Given the description of an element on the screen output the (x, y) to click on. 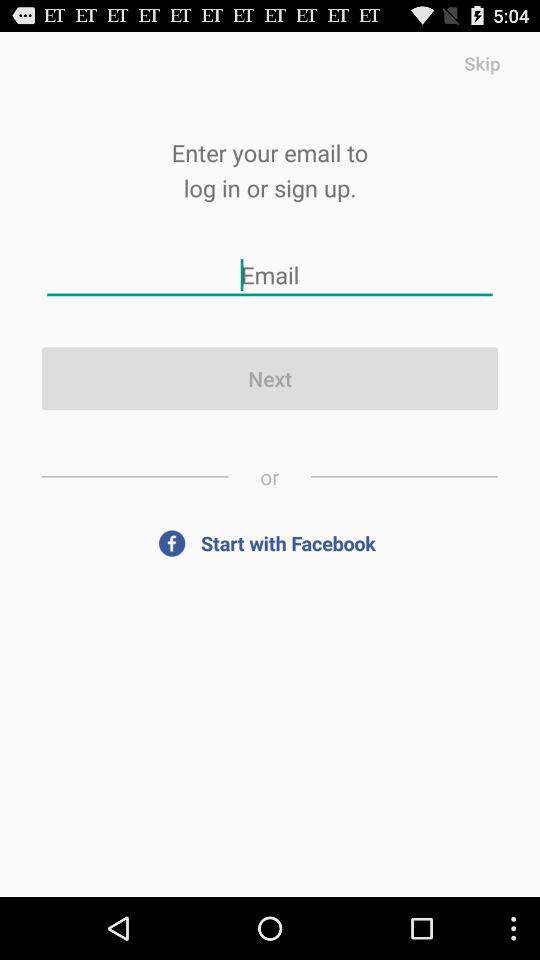
name button (270, 274)
